Given the description of an element on the screen output the (x, y) to click on. 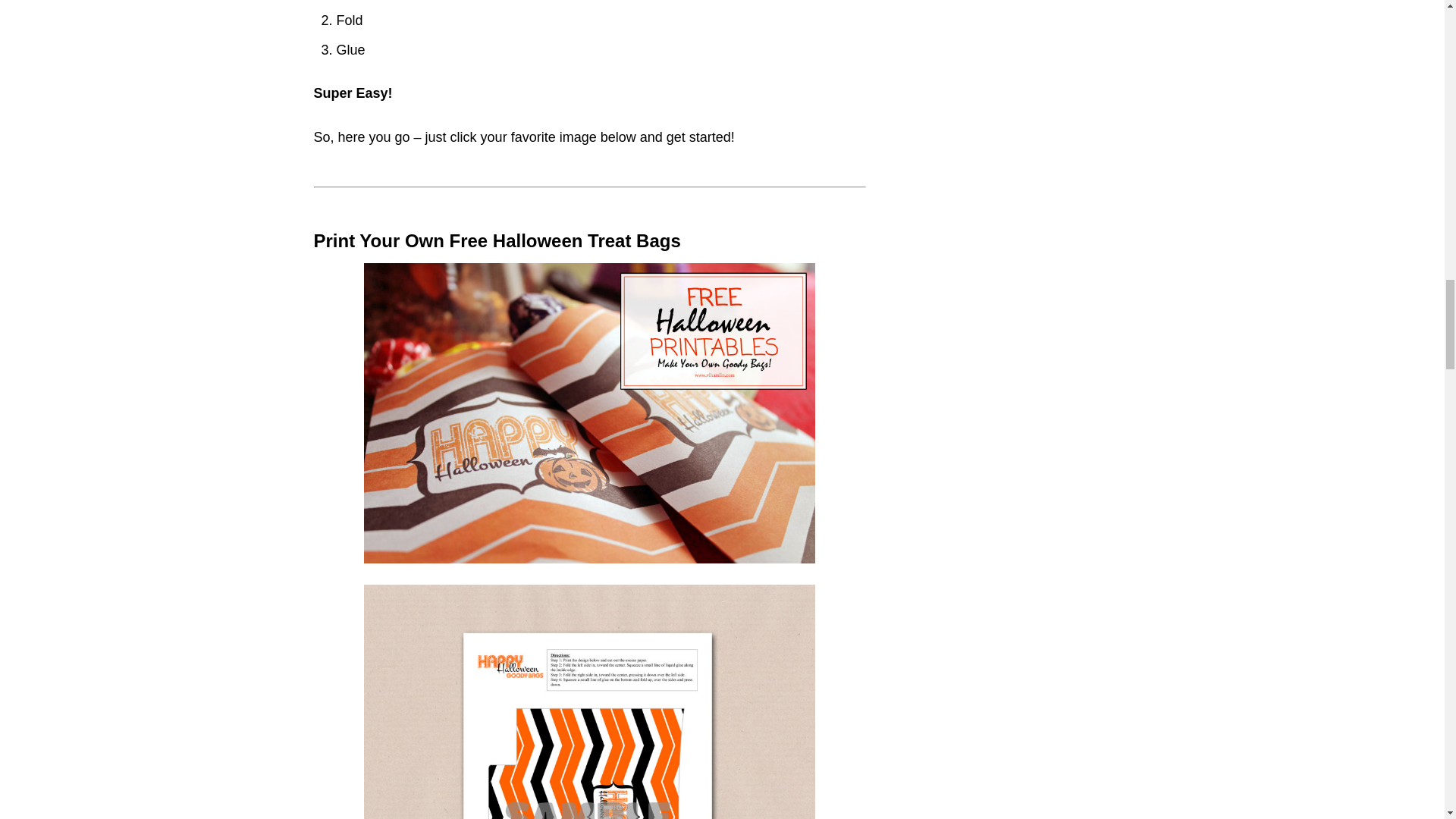
Free Halloween Printables: Happy Halloween Goody Bags (589, 701)
